Given the description of an element on the screen output the (x, y) to click on. 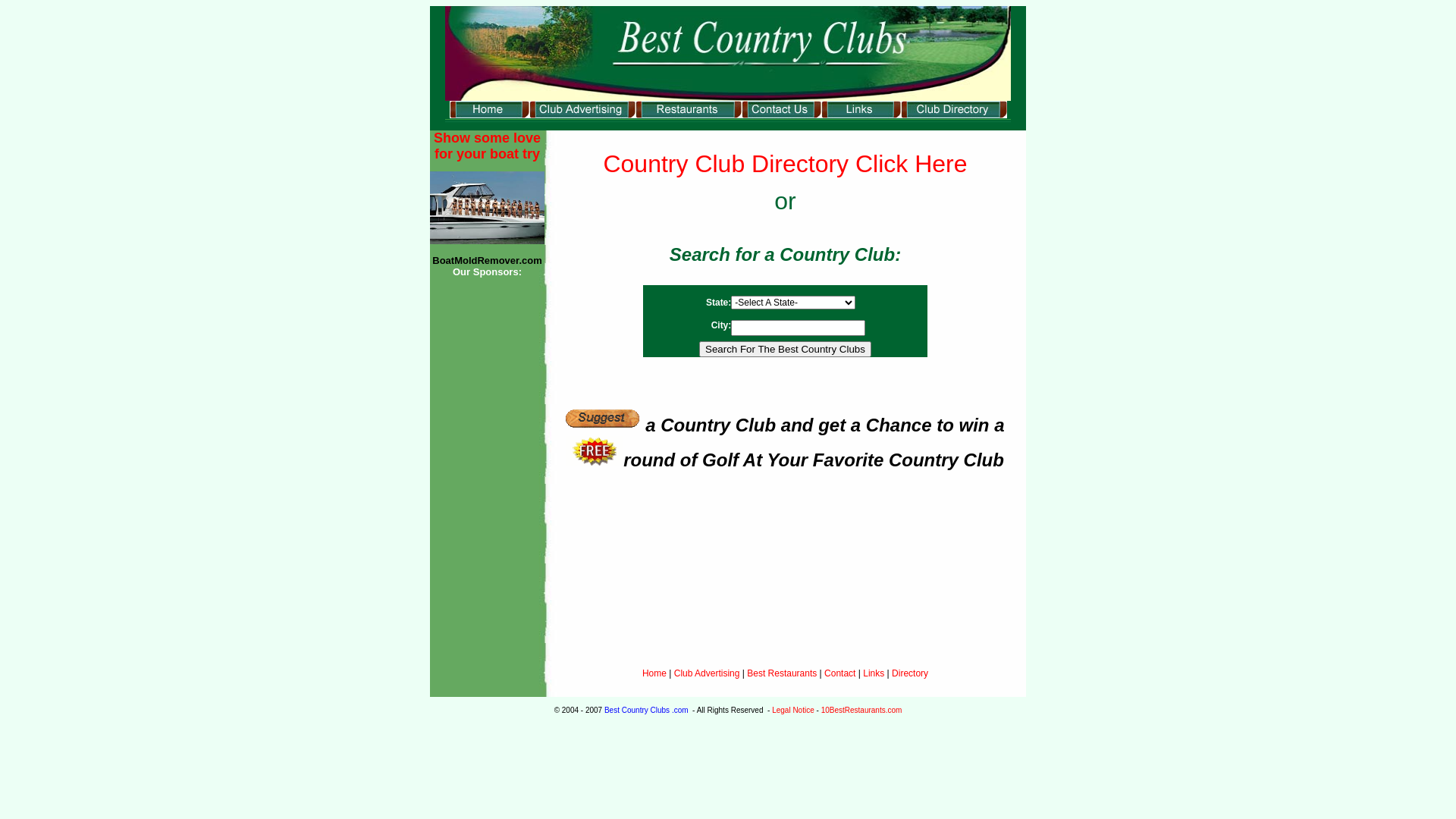
10BestRestaurants.com Element type: text (861, 710)
Country Club Directory Click Here Element type: text (784, 163)
Directory Element type: text (909, 673)
Show some love for your boat try Element type: text (486, 145)
Legal Notice Element type: text (792, 710)
Search For The Best Country Clubs Element type: text (785, 349)
BoatMoldRemover.com Element type: text (486, 260)
Links Element type: text (873, 673)
Home Element type: text (654, 673)
Best Restaurants Element type: text (781, 673)
Club Advertising Element type: text (708, 673)
Best Country Clubs .com Element type: text (647, 710)
Contact Element type: text (839, 673)
